Given the description of an element on the screen output the (x, y) to click on. 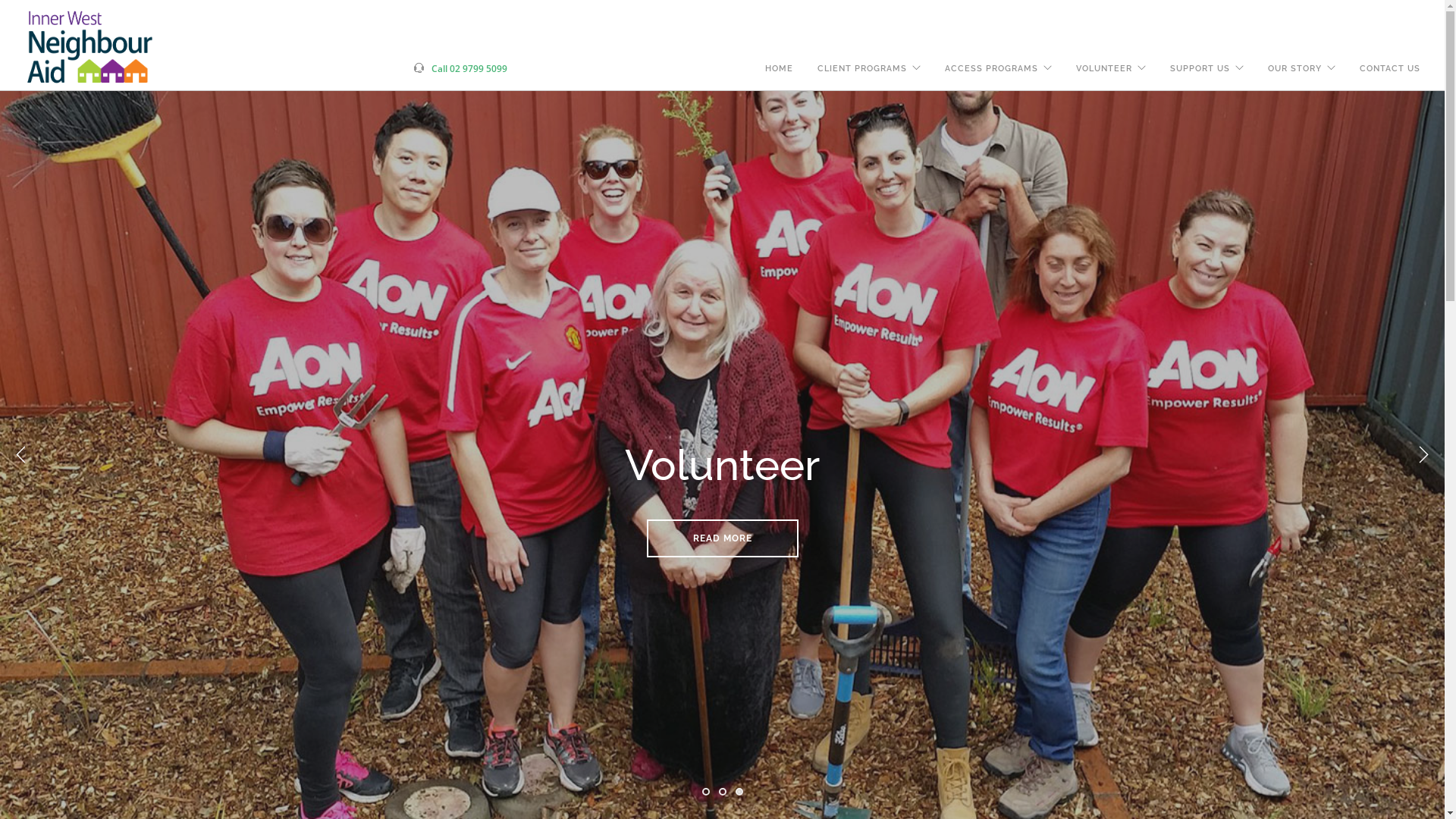
HOME Element type: text (779, 68)
SUPPORT US Element type: text (1200, 68)
OUR STORY Element type: text (1294, 68)
Previous Element type: text (21, 454)
CLIENT PROGRAMS Element type: text (861, 68)
Call 02 9799 5099 Element type: text (469, 44)
READ MORE Element type: text (721, 636)
Next Element type: text (1423, 454)
ACCESS PROGRAMS Element type: text (991, 68)
1 Element type: text (705, 791)
3 Element type: text (739, 791)
CONTACT US Element type: text (1389, 68)
2 Element type: text (722, 791)
VOLUNTEER Element type: text (1104, 68)
